Given the description of an element on the screen output the (x, y) to click on. 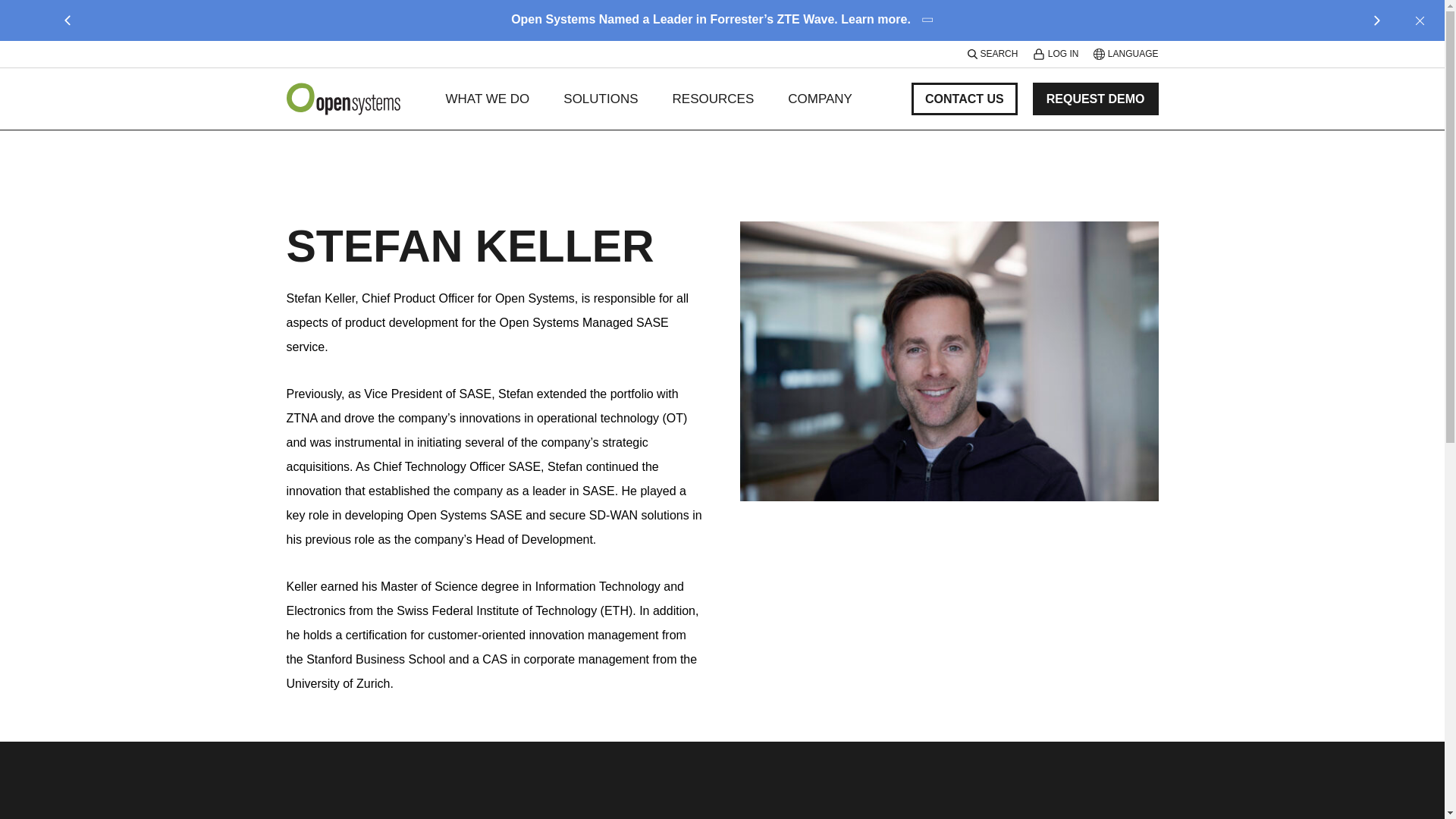
SEARCH (992, 53)
WHAT WE DO (487, 98)
LOG IN (1055, 53)
LANGUAGE (1125, 53)
SOLUTIONS (600, 98)
